Given the description of an element on the screen output the (x, y) to click on. 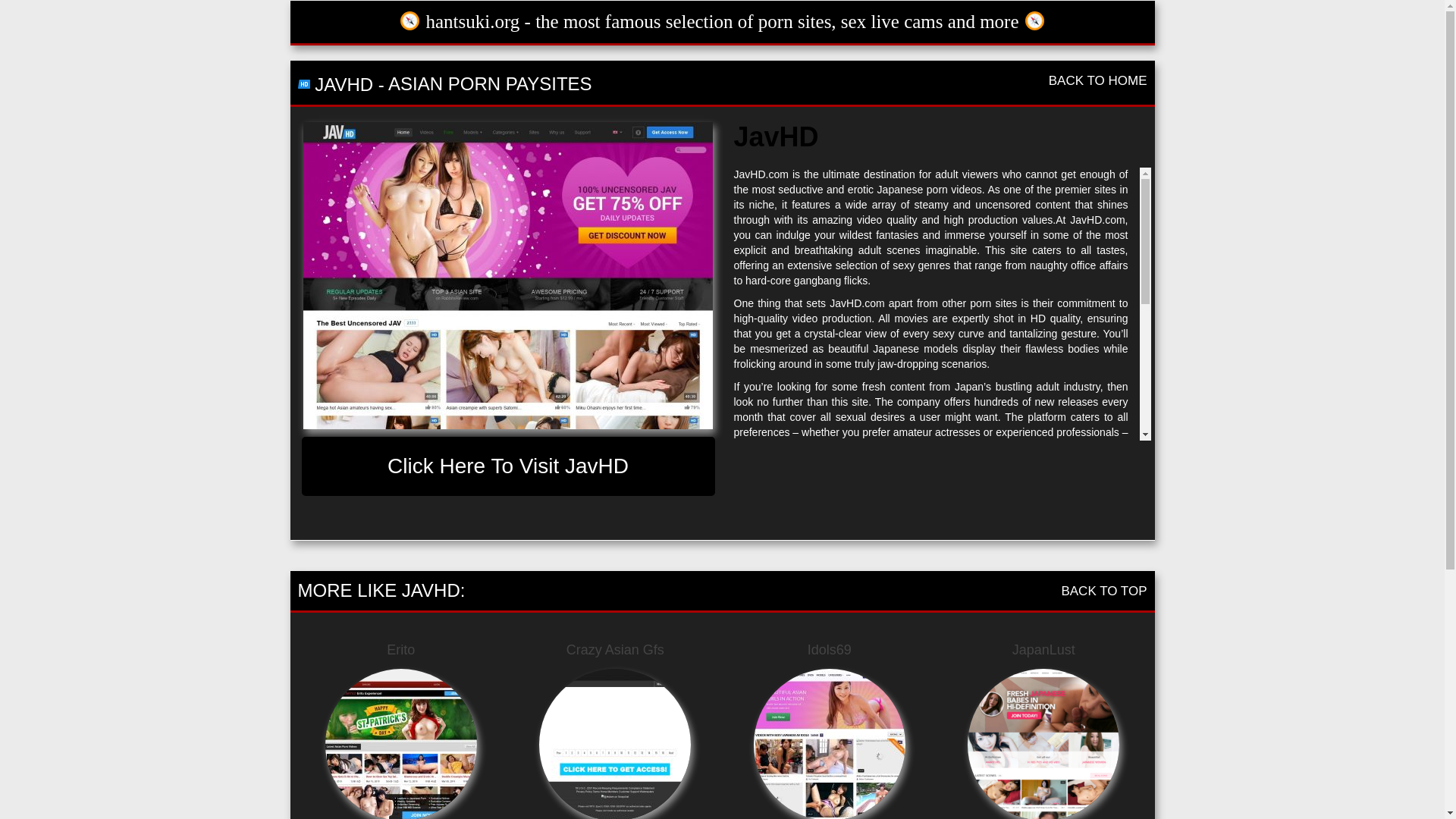
Erito (400, 650)
JavHD (507, 466)
Idols69 (829, 650)
Crazy Asian Gfs (615, 650)
BACK TO HOME (1097, 80)
JapanLust (1043, 650)
ASIAN PORN PAYSITES (490, 83)
JavHD (507, 275)
Click Here To Visit JavHD (507, 466)
BACK TO TOP (1104, 590)
JavHD (507, 275)
